Given the description of an element on the screen output the (x, y) to click on. 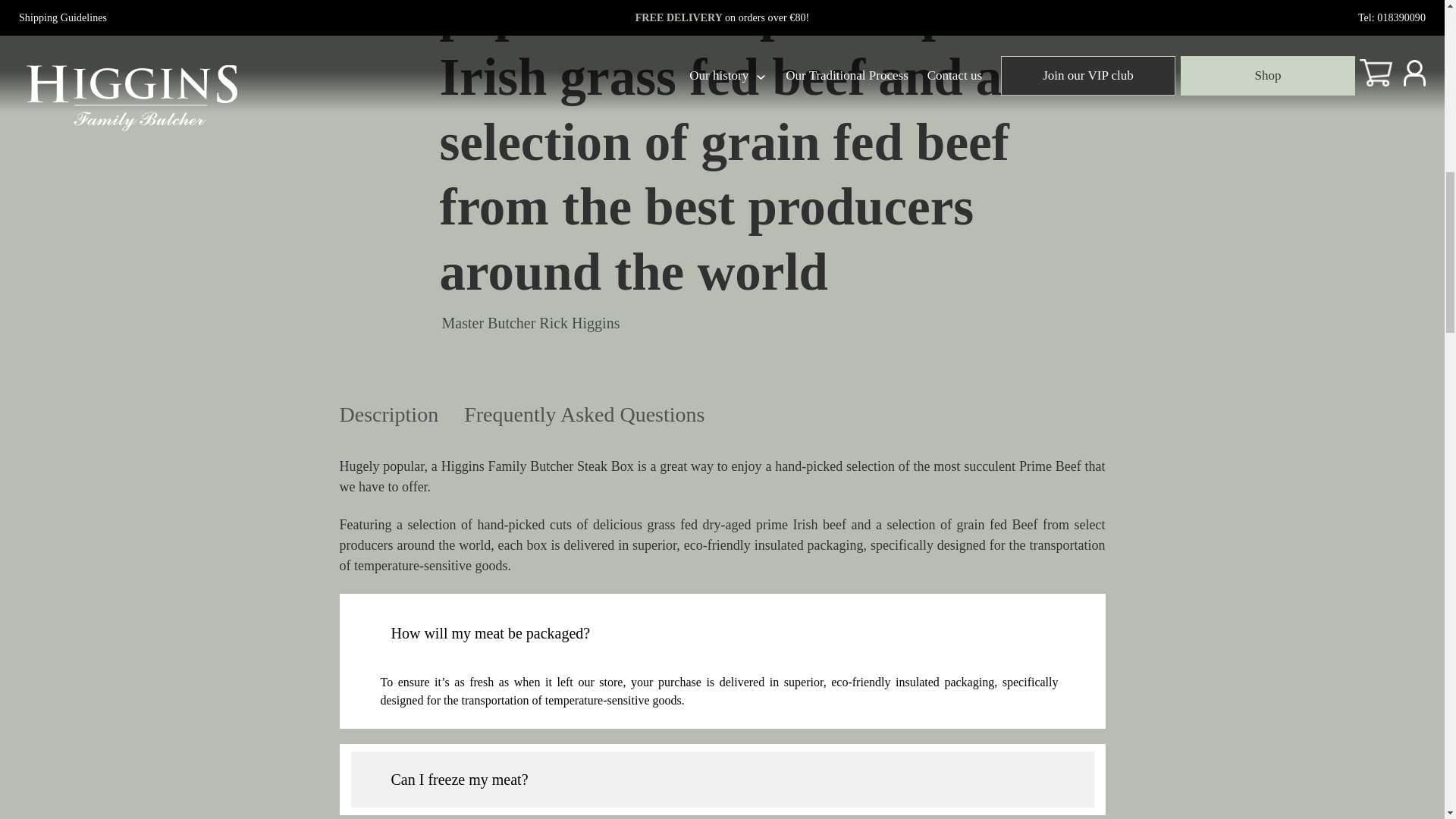
Can I freeze my meat? (721, 779)
Frequently Asked Questions (584, 416)
How will my meat be packaged? (721, 627)
Description (389, 416)
